Given the description of an element on the screen output the (x, y) to click on. 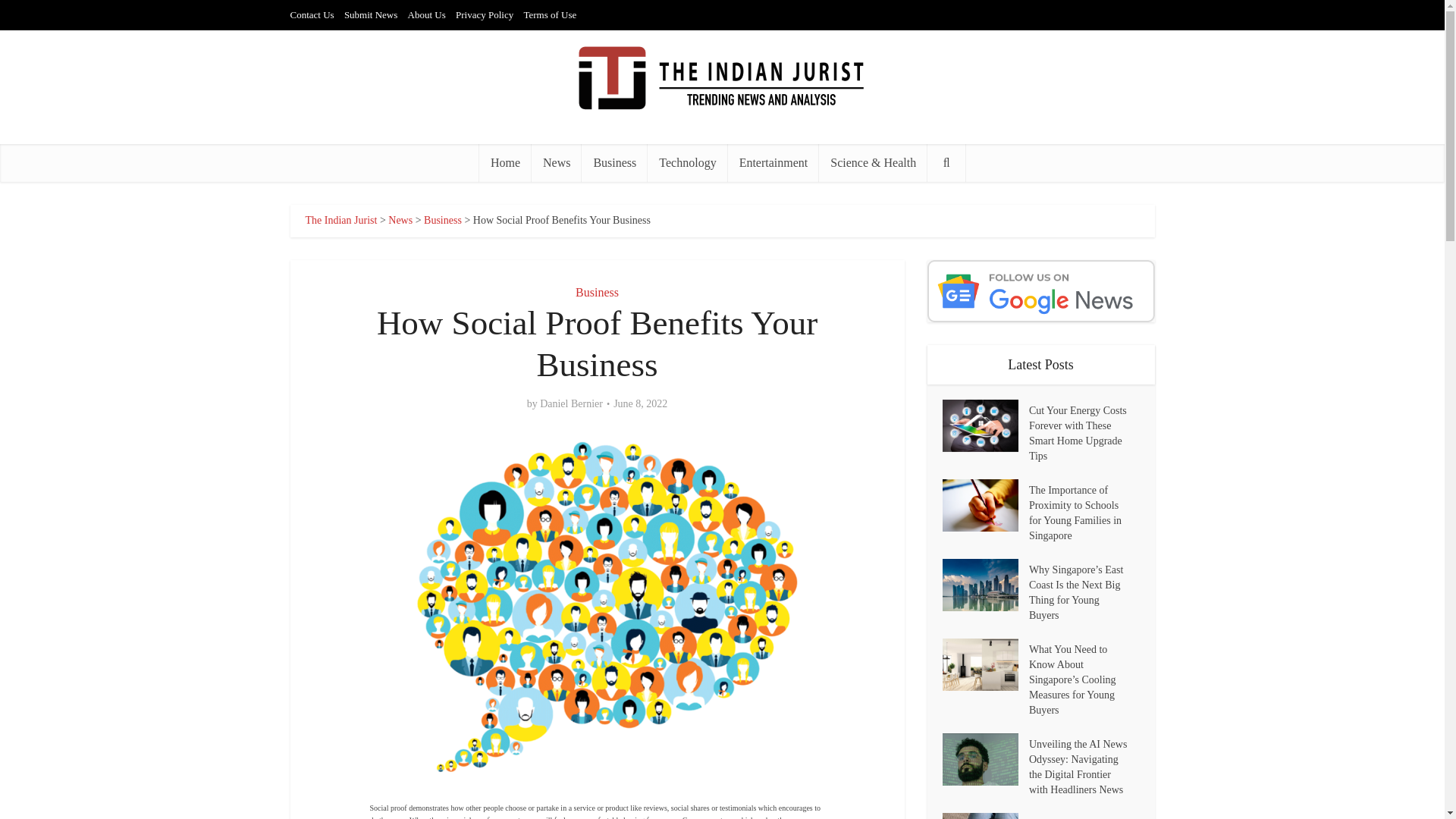
Privacy Policy (484, 14)
News (555, 162)
News (400, 220)
Contact Us (311, 14)
Submit News (370, 14)
Technology (686, 162)
Business (442, 220)
Daniel Bernier (571, 404)
Entertainment (773, 162)
About Us (426, 14)
Business (613, 162)
